Given the description of an element on the screen output the (x, y) to click on. 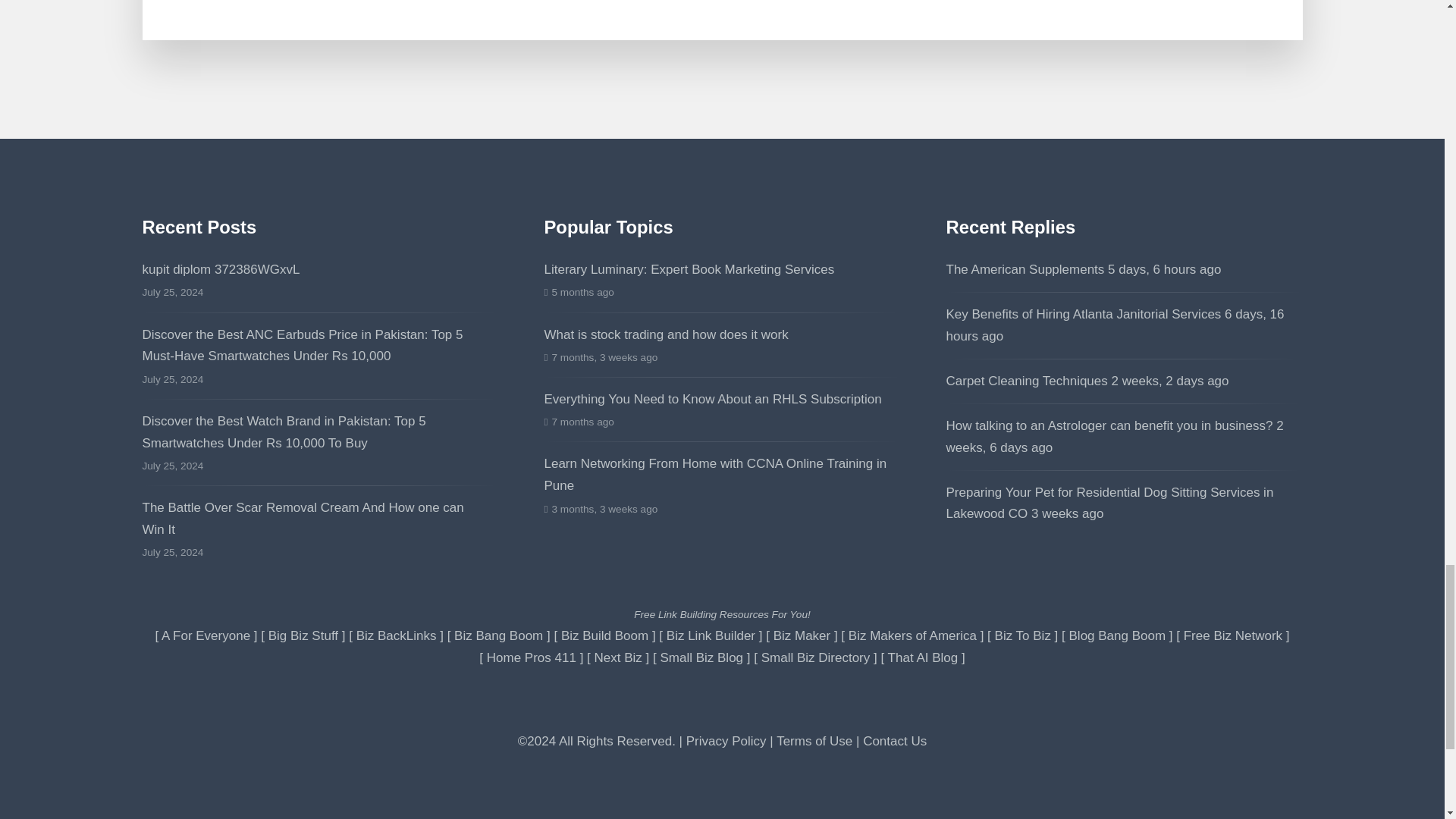
Biz BackLinks - FREE Link building. (396, 635)
Big Biz Stuff - FREE Link building. (302, 635)
A For Everyone - FREE Link building. (205, 635)
Nice Post (1110, 503)
